Given the description of an element on the screen output the (x, y) to click on. 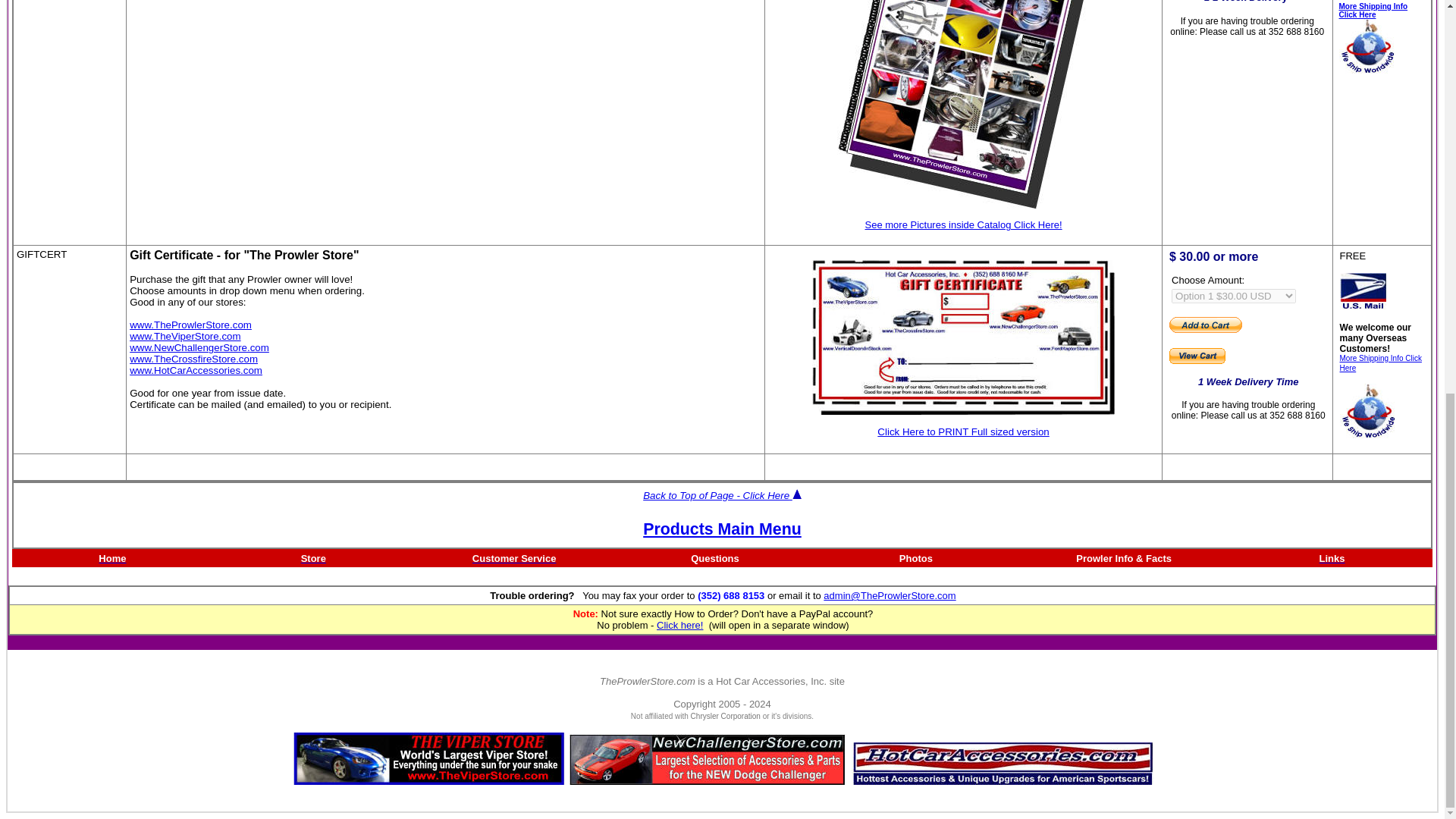
www.TheViperStore.com (184, 336)
Home (112, 557)
Click Here (1357, 14)
See more Pictures inside Catalog Click Here! (962, 224)
www.NewChallengerStore.com (199, 347)
Products Main Menu (722, 529)
More Shipping Info (1373, 6)
Customer Service (513, 557)
Click Here to PRINT Full sized version (962, 431)
Questions (714, 557)
www.TheCrossfireStore.com (193, 358)
More Shipping Info Click Here (1380, 362)
Photos (916, 557)
Store (313, 557)
Links (1332, 557)
